Given the description of an element on the screen output the (x, y) to click on. 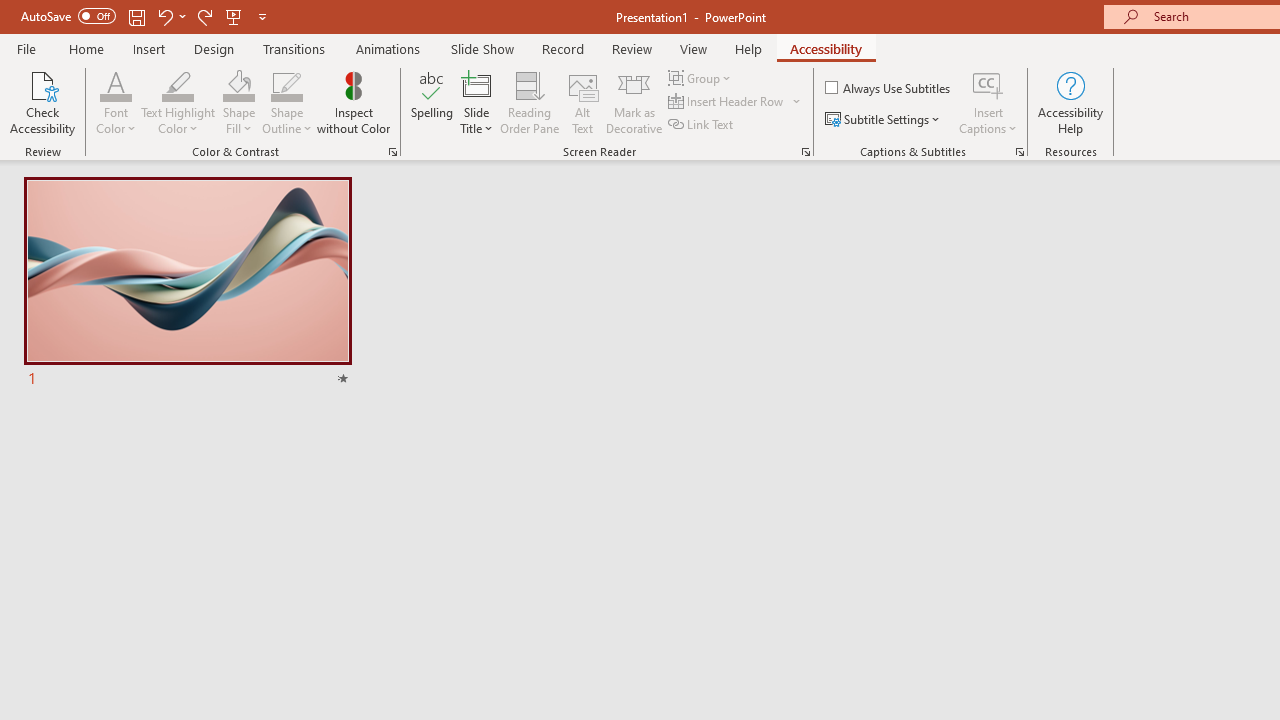
Spelling... (432, 102)
Color & Contrast (392, 151)
Subtitle Settings (884, 119)
Mark as Decorative (634, 102)
Shape Outline Blue, Accent 1 (286, 84)
